Given the description of an element on the screen output the (x, y) to click on. 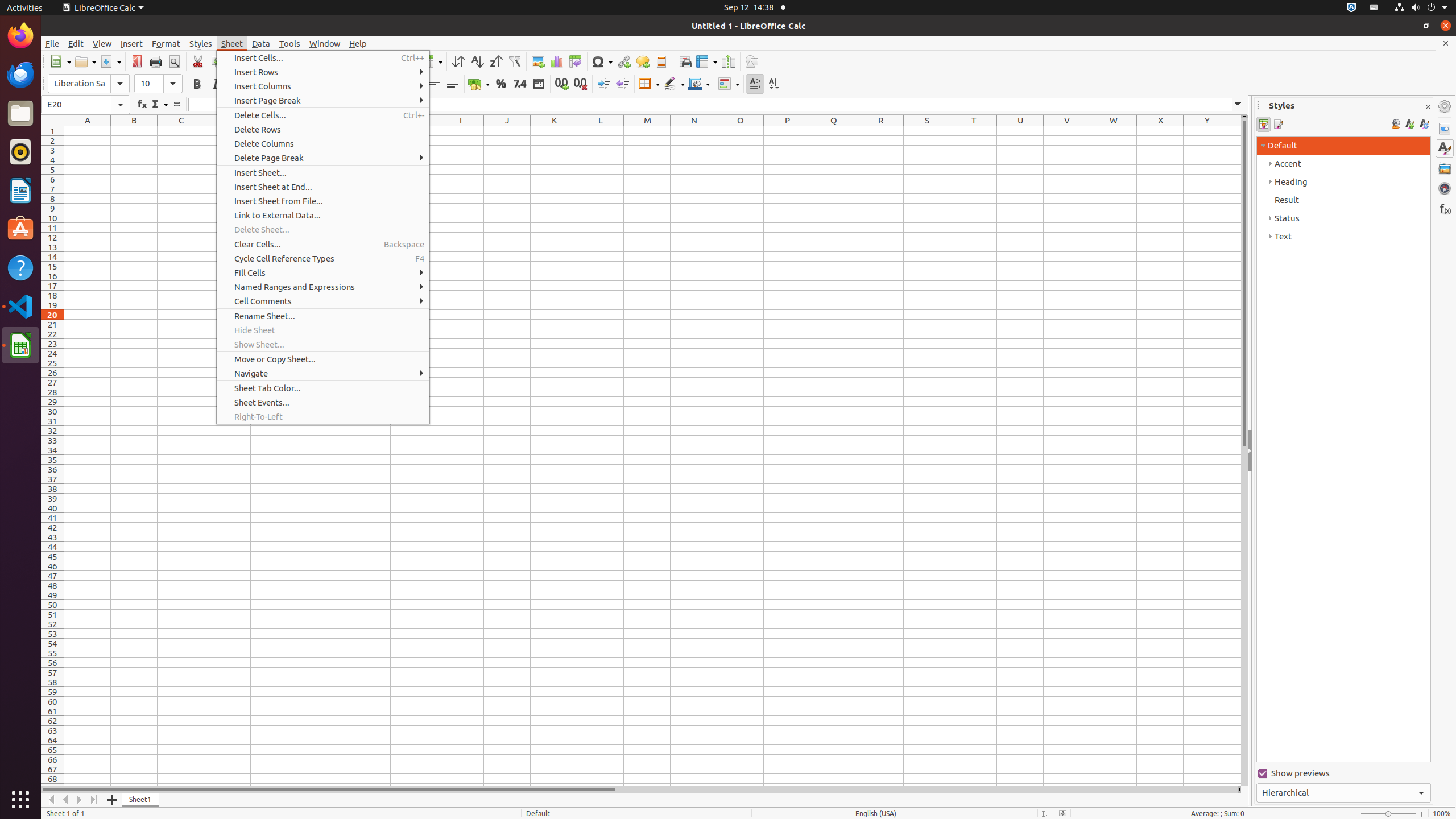
Border Color Element type: push-button (698, 83)
Open Element type: push-button (84, 61)
Font Size Element type: combo-box (158, 83)
System Element type: menu (1420, 7)
Insert Cells... Element type: menu-item (322, 57)
